Given the description of an element on the screen output the (x, y) to click on. 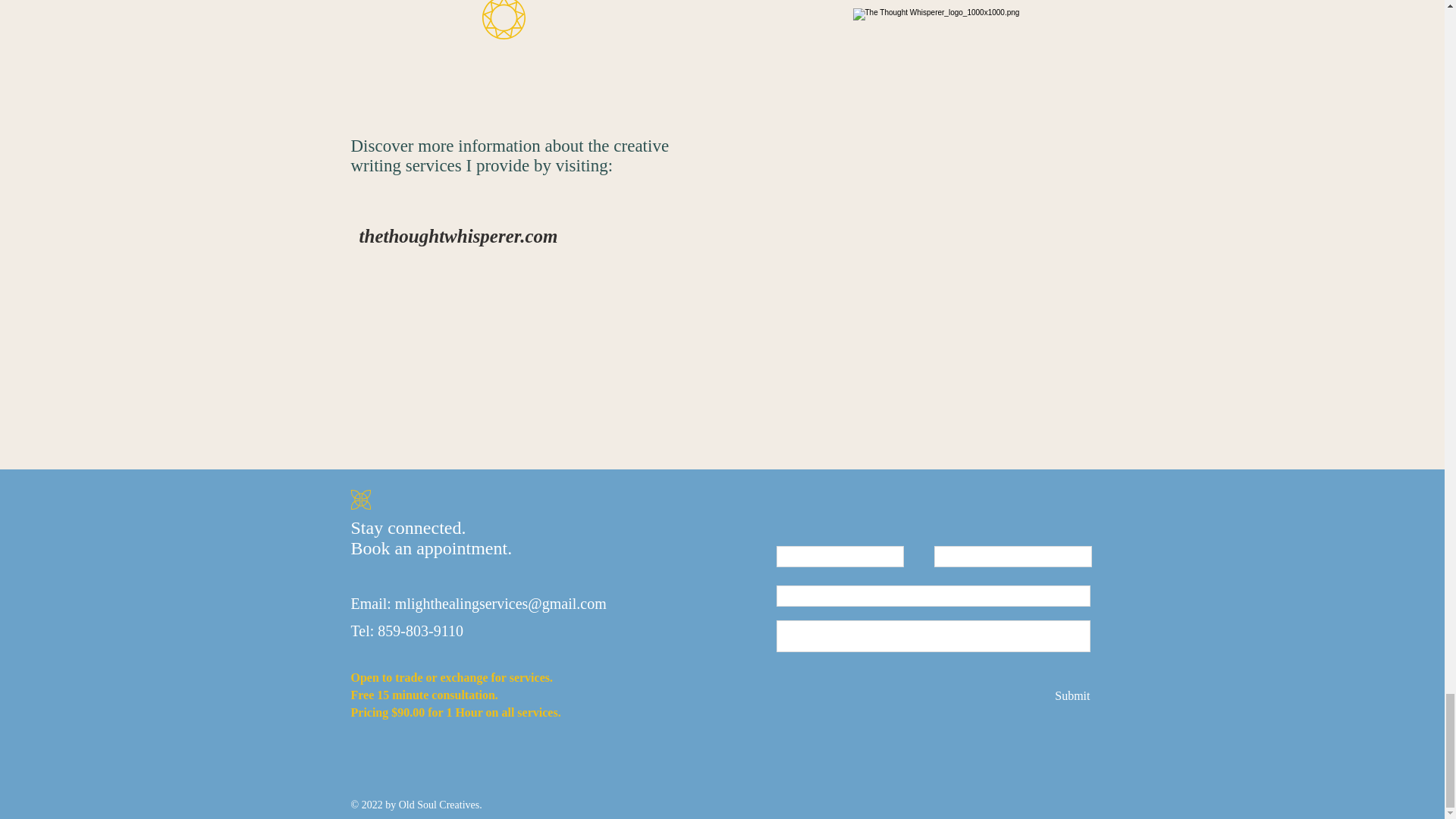
Old Soul Creatives (439, 804)
thethoughtwhisperer.com (457, 235)
Submit (1069, 695)
